Given the description of an element on the screen output the (x, y) to click on. 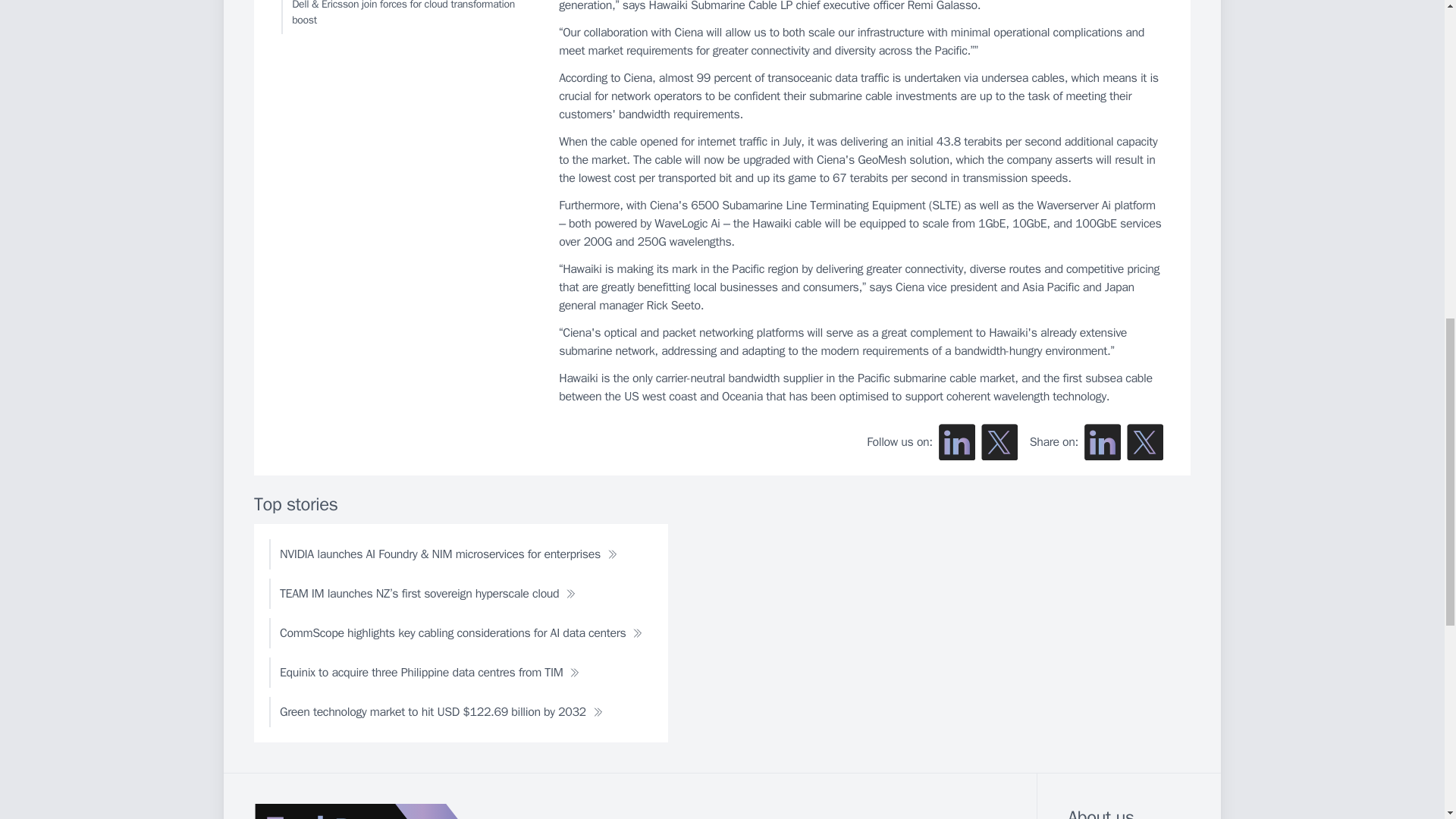
Equinix to acquire three Philippine data centres from TIM (429, 672)
